Given the description of an element on the screen output the (x, y) to click on. 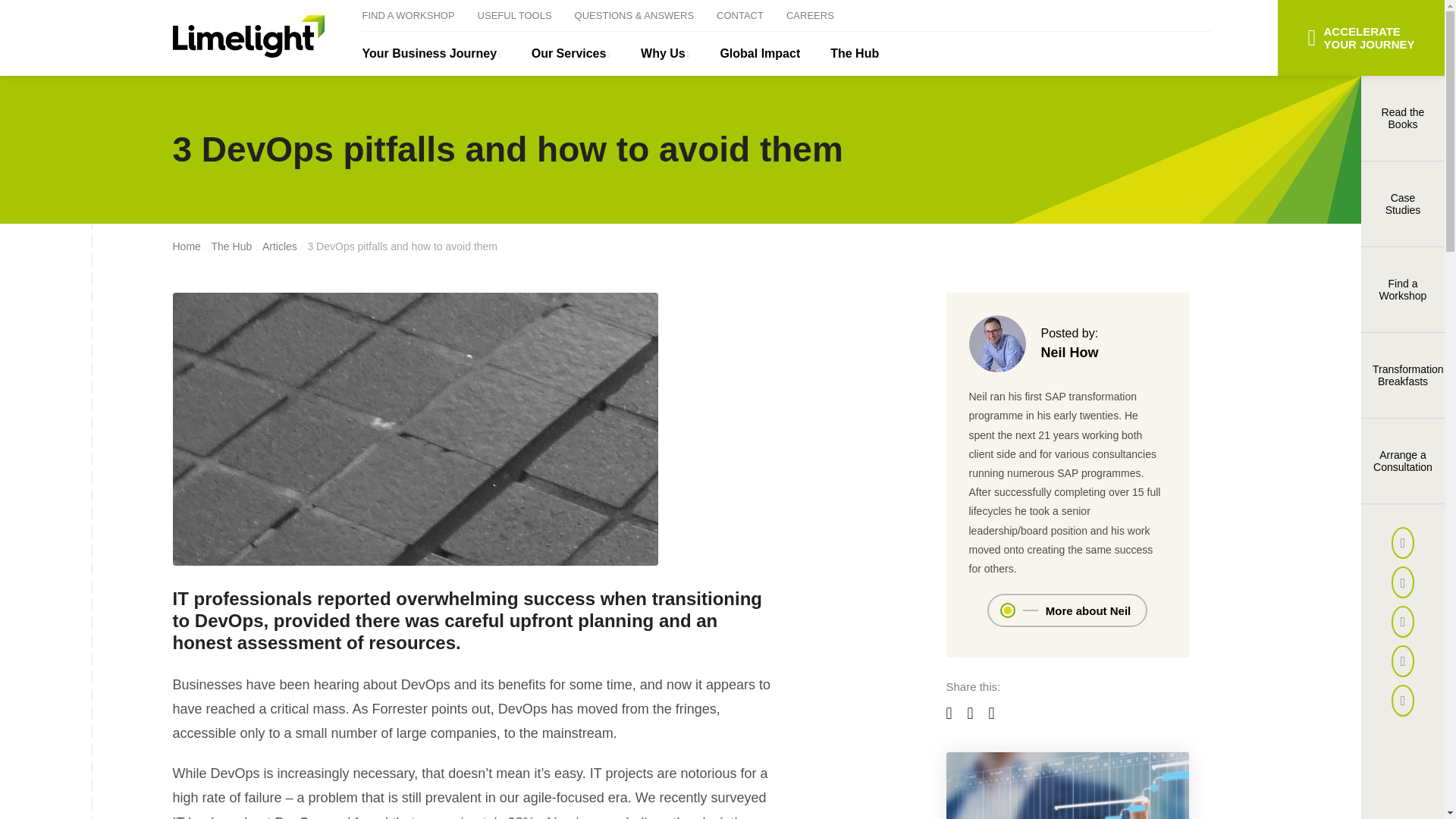
CONTACT (739, 15)
Limelight Consulting (248, 36)
Your Business Journey (431, 53)
Skip to Content (19, 10)
FIND A WORKSHOP (407, 15)
Global Impact (759, 53)
The Hub (231, 246)
USEFUL TOOLS (514, 15)
The Hub (854, 53)
Why Us (665, 53)
